Given the description of an element on the screen output the (x, y) to click on. 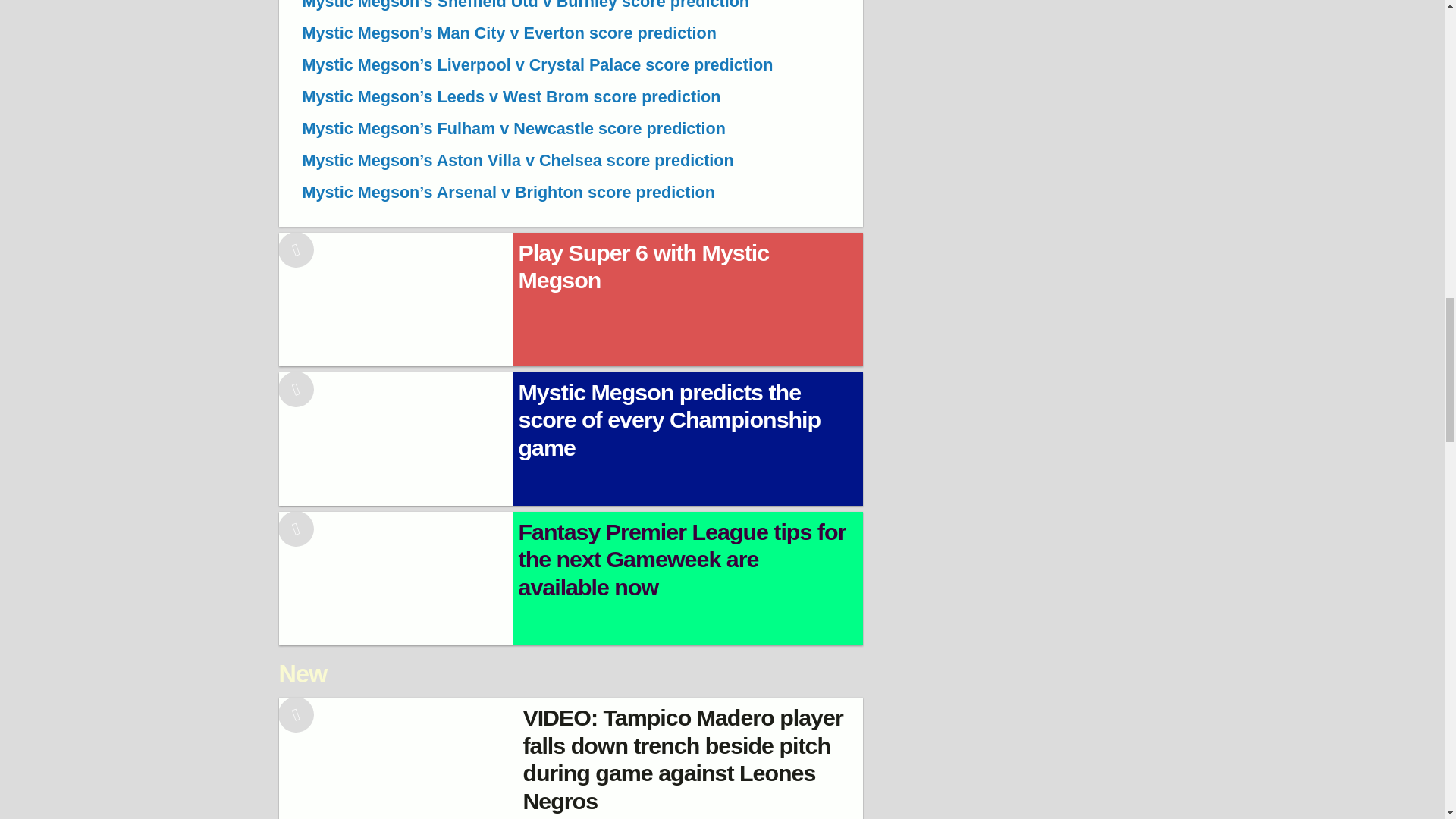
Play Super 6 with Mystic Megson (687, 299)
FPL tips and transfer suggestions for the upcoming Gameweek (687, 578)
Mystic Megson predicts the score of every Championship game (687, 439)
